Given the description of an element on the screen output the (x, y) to click on. 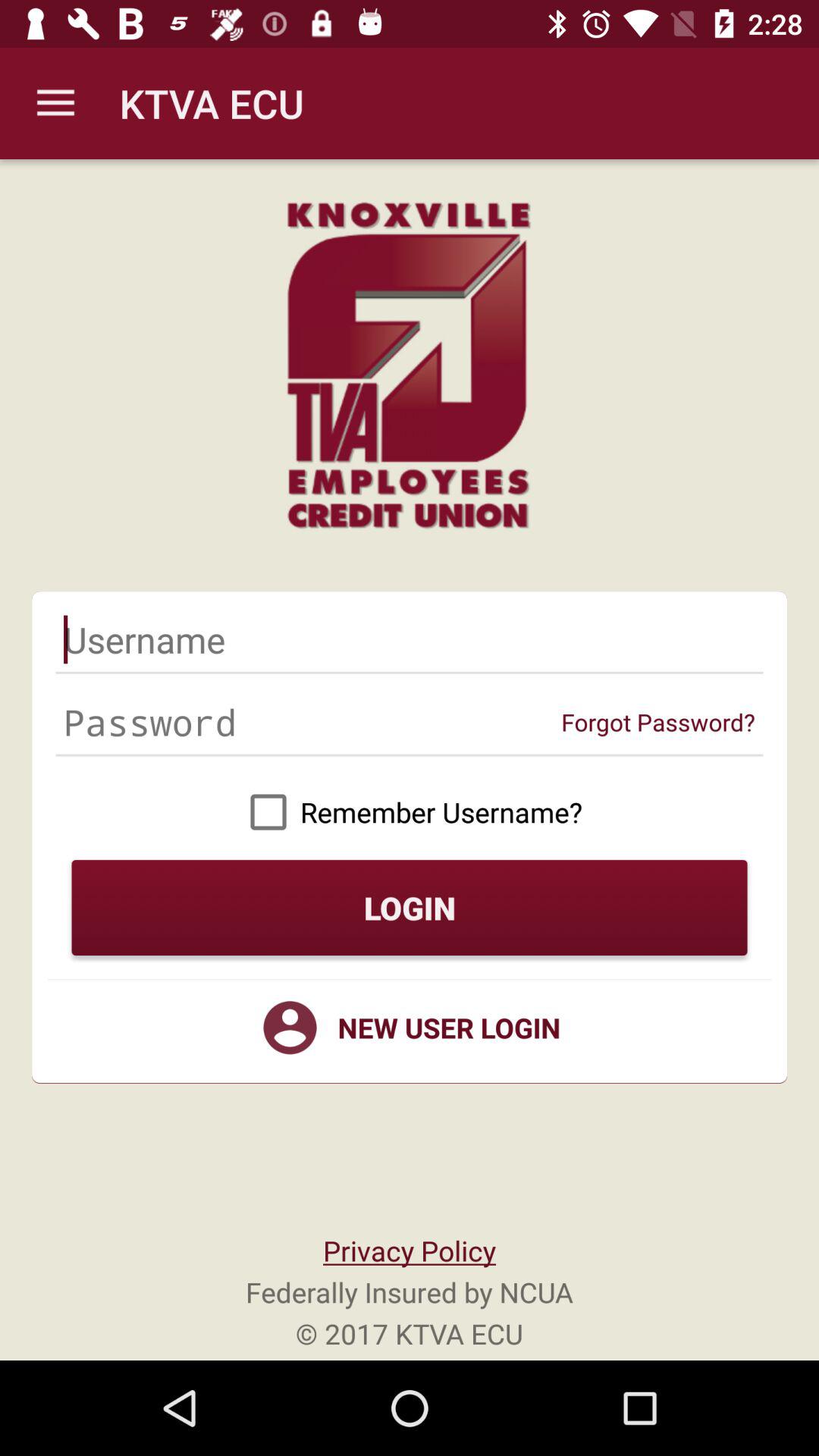
open the icon next to the ktva ecu item (55, 103)
